Given the description of an element on the screen output the (x, y) to click on. 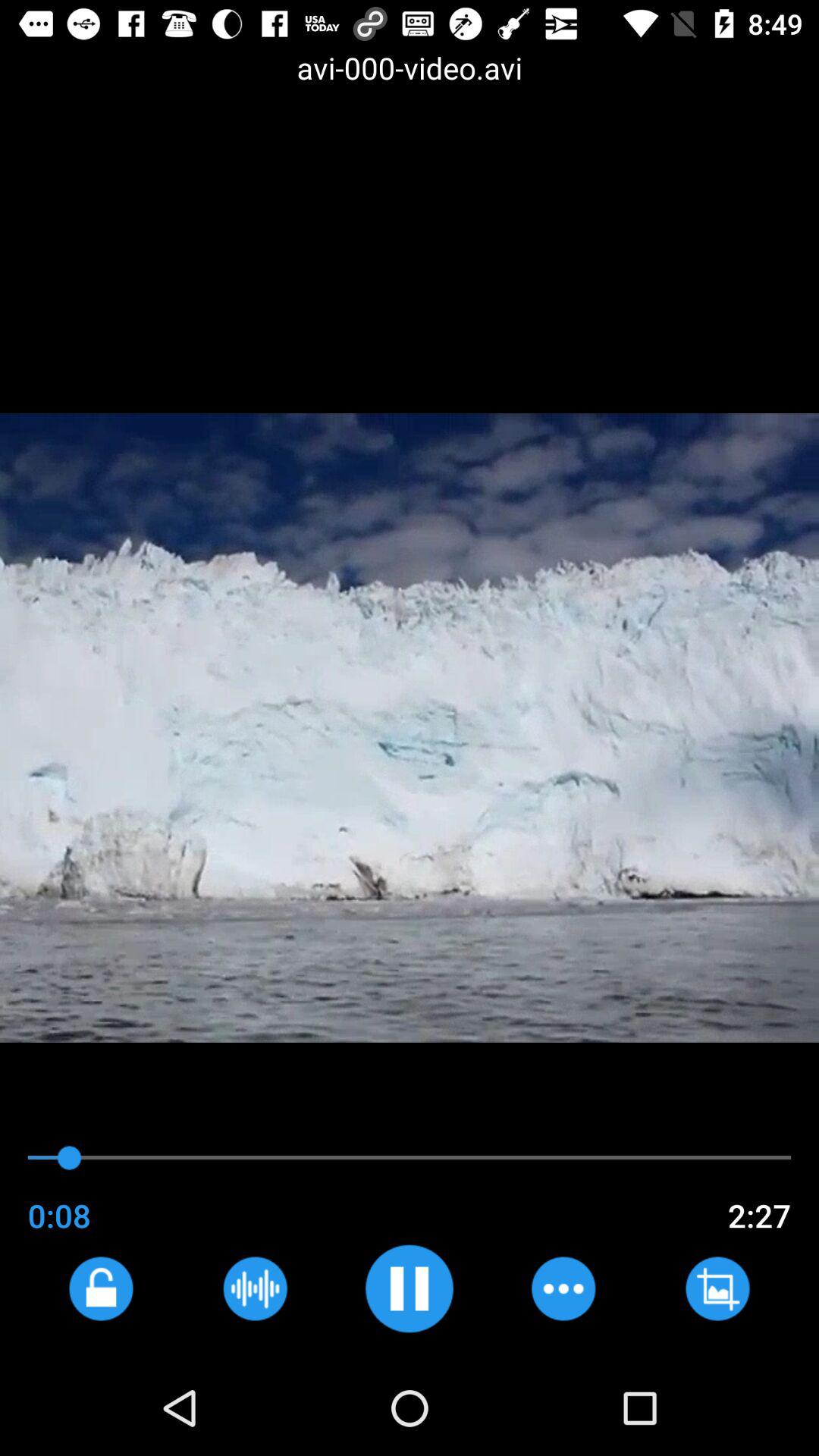
options (563, 1288)
